Given the description of an element on the screen output the (x, y) to click on. 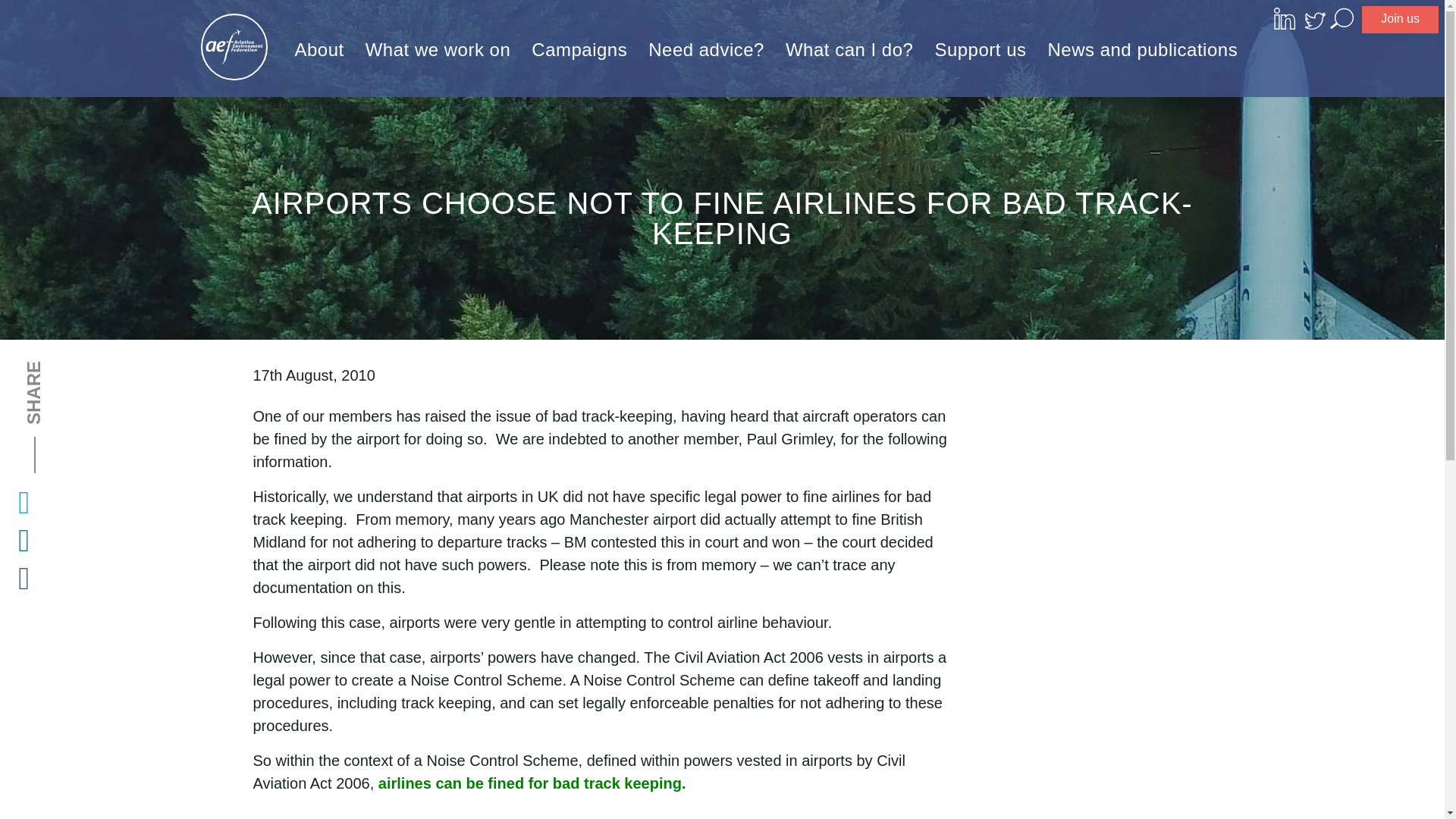
What can I do? (848, 48)
About (318, 48)
Campaigns (579, 48)
News and publications (1142, 48)
Follow us on Twitter (1314, 17)
Support us (980, 48)
Join us (1399, 19)
Follow us on LinkedIn (1287, 17)
Follow us on Twitter (1314, 21)
Search (1341, 17)
What we work on (437, 48)
Need advice? (706, 48)
Follow us on LinkedIn (1287, 21)
